Given the description of an element on the screen output the (x, y) to click on. 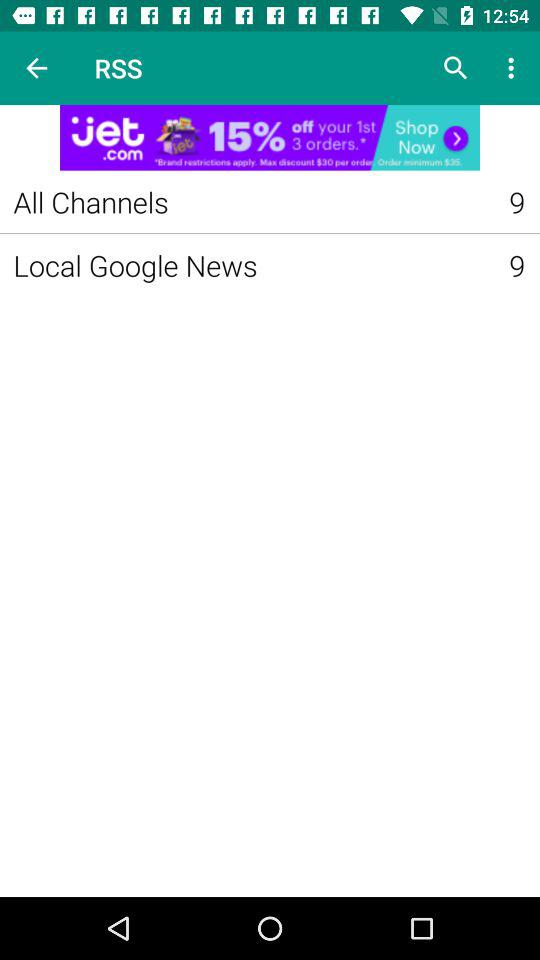
go to advertainment (270, 137)
